Given the description of an element on the screen output the (x, y) to click on. 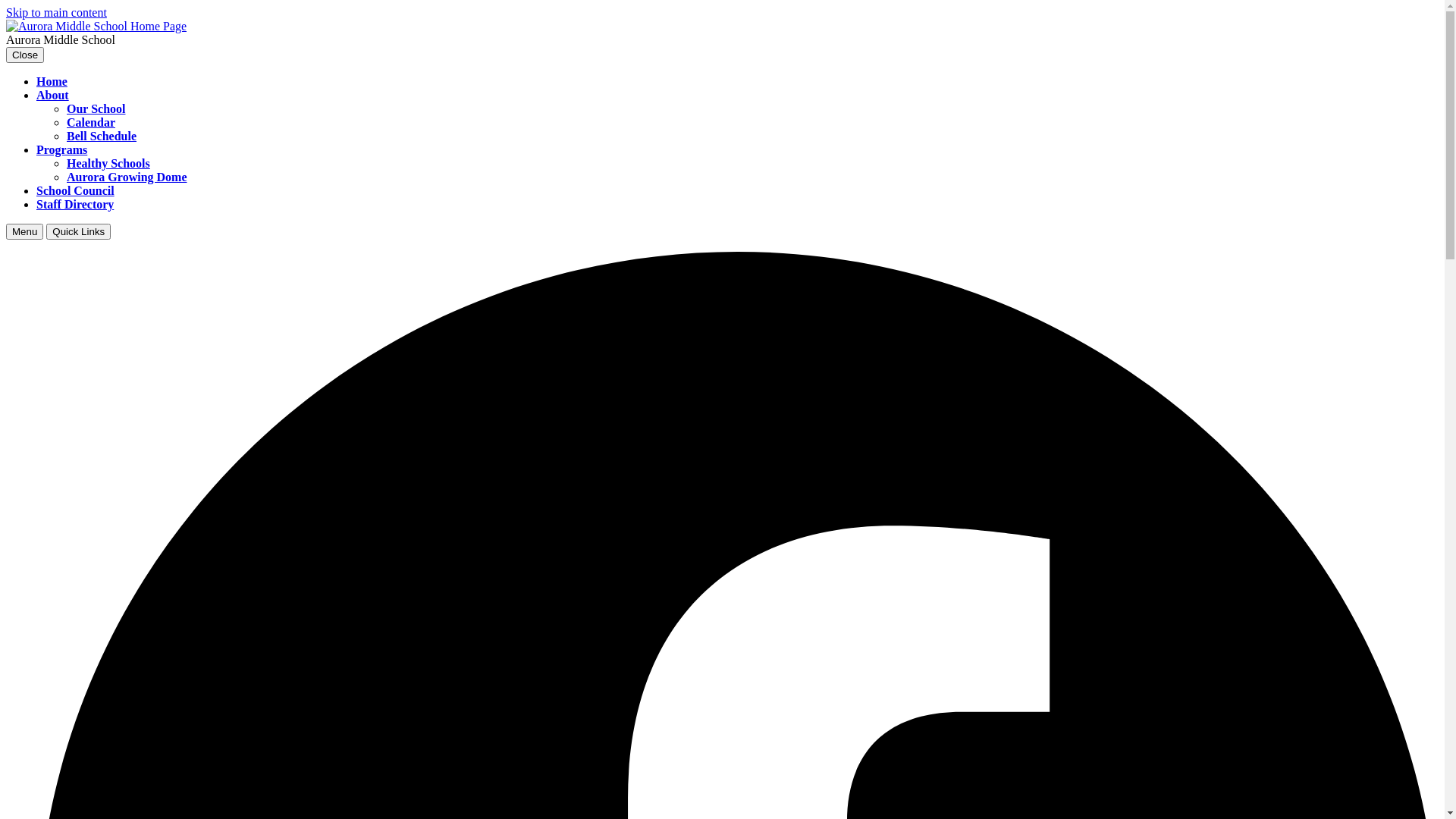
Skip to main content Element type: text (56, 12)
Staff Directory Element type: text (74, 203)
home Element type: hover (96, 25)
Menu Element type: text (24, 231)
Home Element type: text (51, 81)
Programs Element type: text (61, 149)
Aurora Growing Dome Element type: text (126, 176)
Close Element type: text (24, 54)
Calendar Element type: text (90, 122)
Our School Element type: text (95, 108)
Bell Schedule Element type: text (101, 135)
School Council Element type: text (75, 190)
About Element type: text (52, 94)
Healthy Schools Element type: text (108, 162)
Quick Links Element type: text (78, 231)
